Given the description of an element on the screen output the (x, y) to click on. 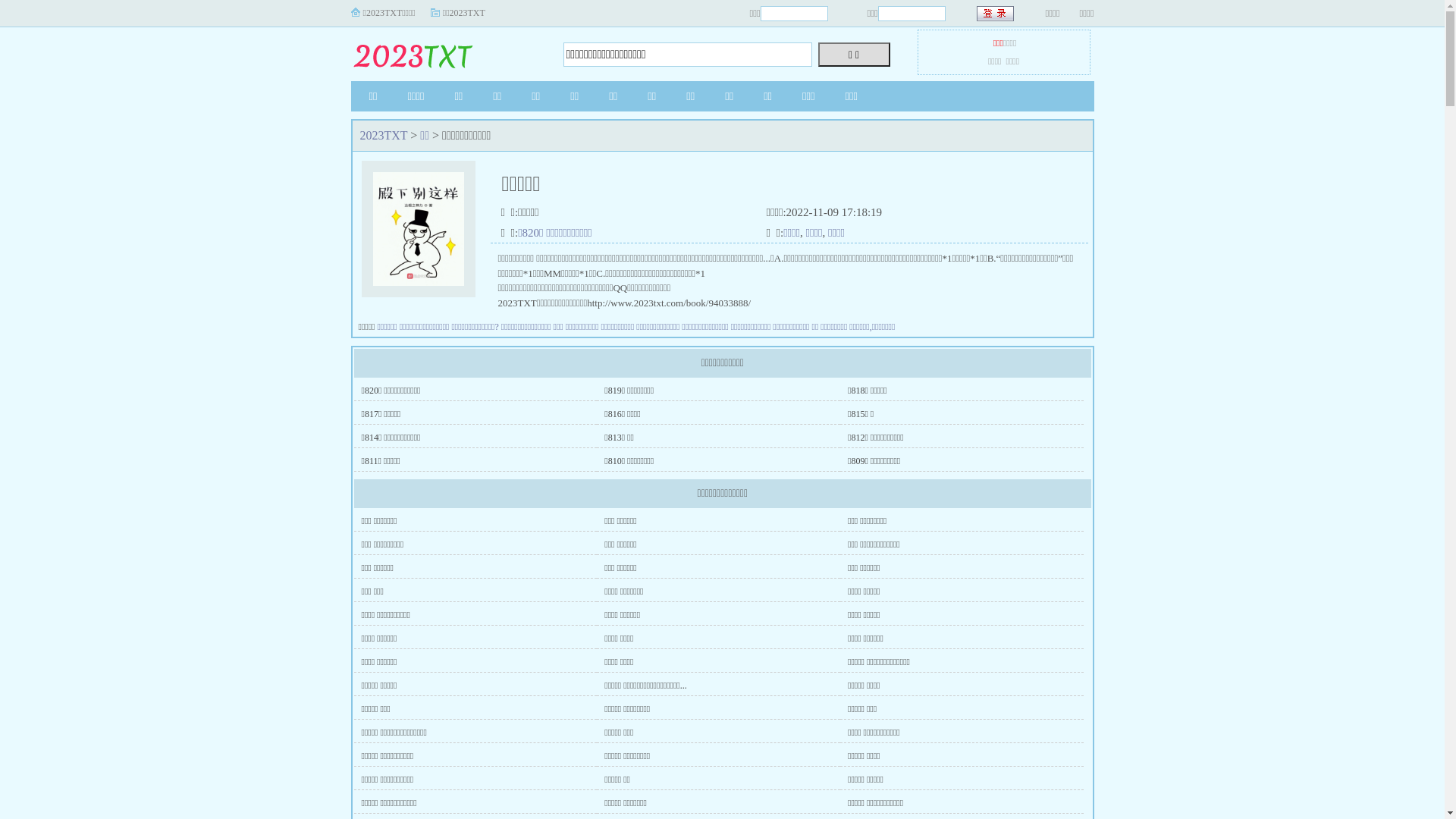
2023TXT Element type: text (383, 134)
2023TXT Element type: text (444, 49)
  Element type: text (995, 13)
